Given the description of an element on the screen output the (x, y) to click on. 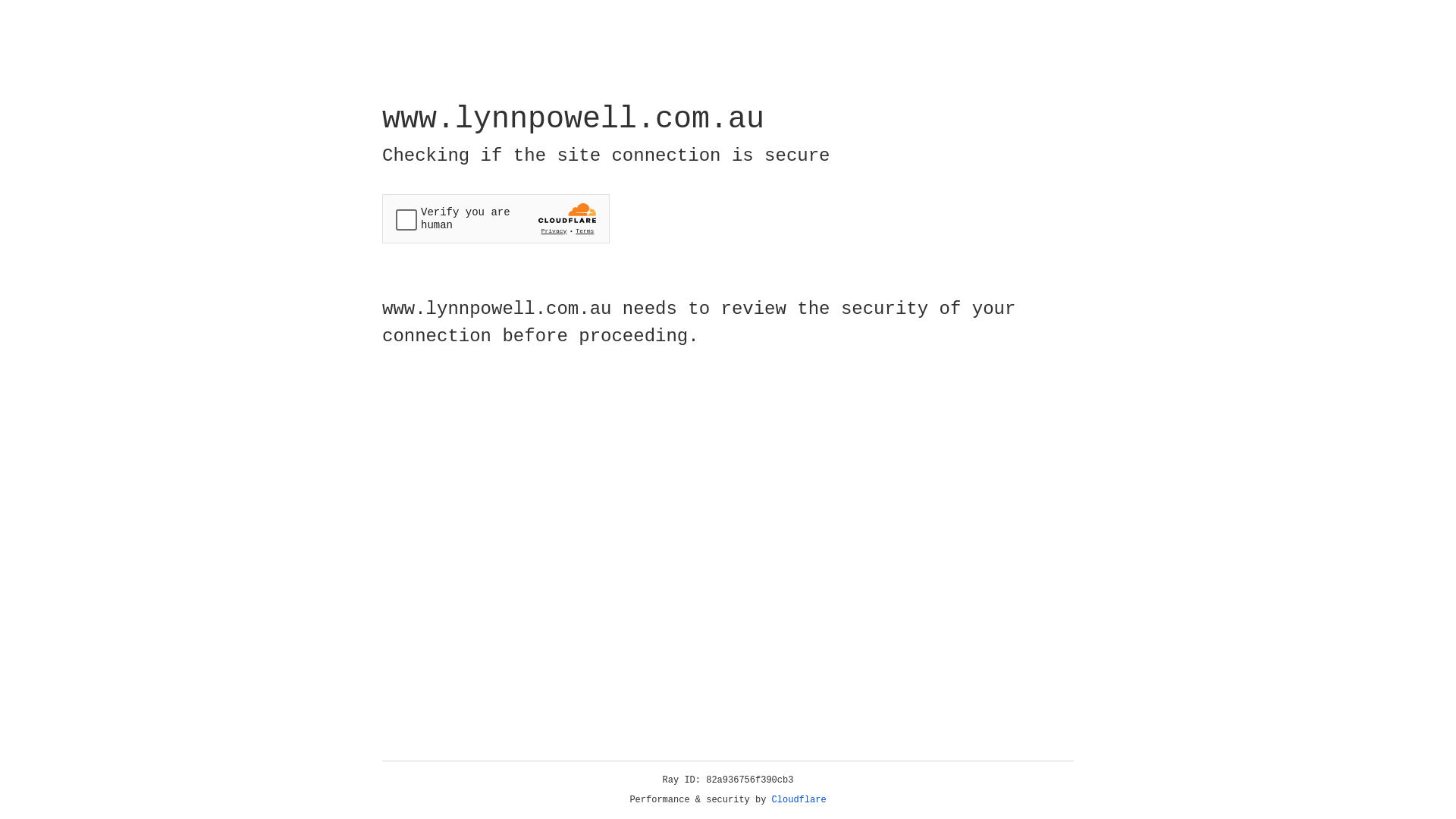
Cloudflare Element type: text (798, 799)
Widget containing a Cloudflare security challenge Element type: hover (495, 218)
